Given the description of an element on the screen output the (x, y) to click on. 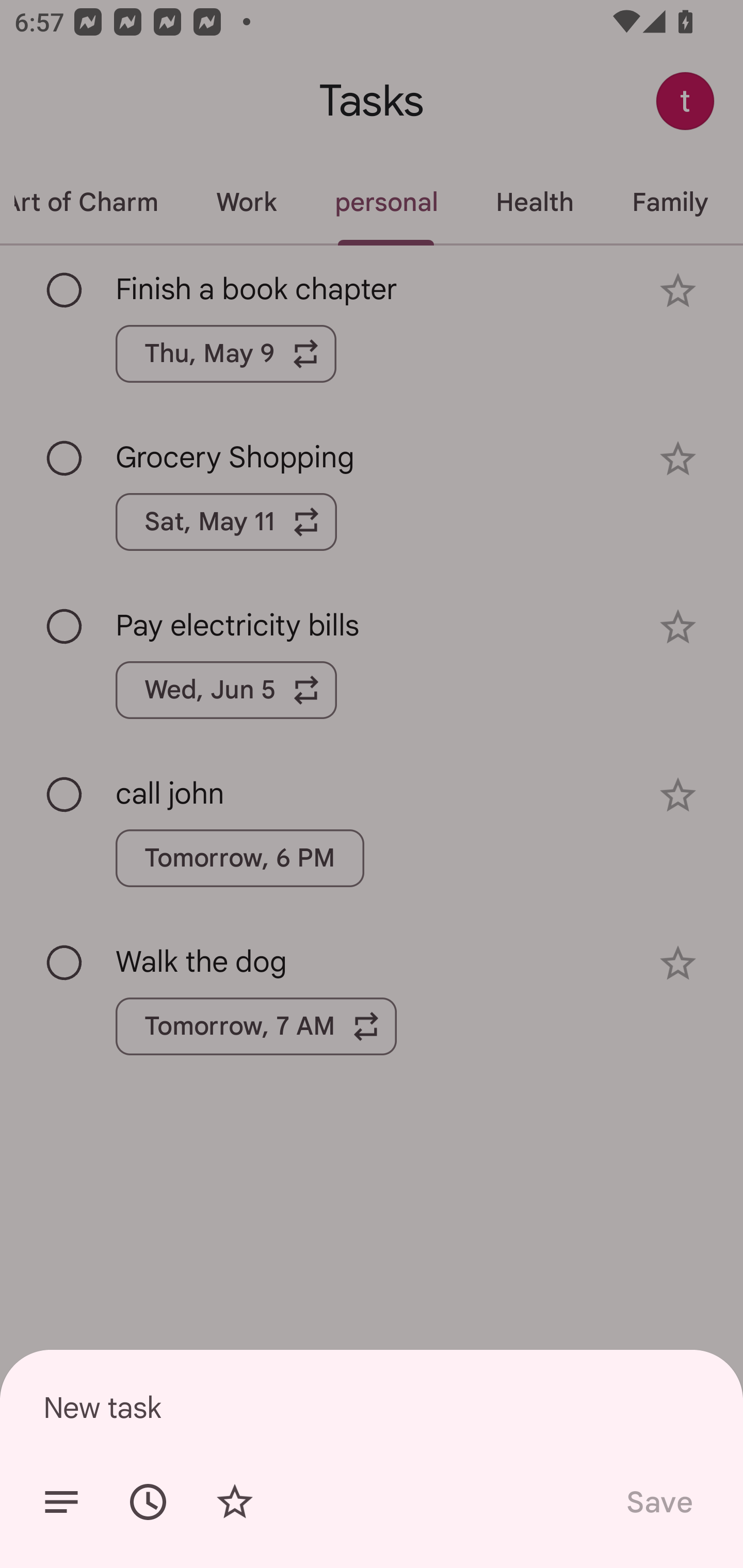
New task (371, 1407)
Save (659, 1501)
Add details (60, 1501)
Set date/time (147, 1501)
Add star (234, 1501)
